Given the description of an element on the screen output the (x, y) to click on. 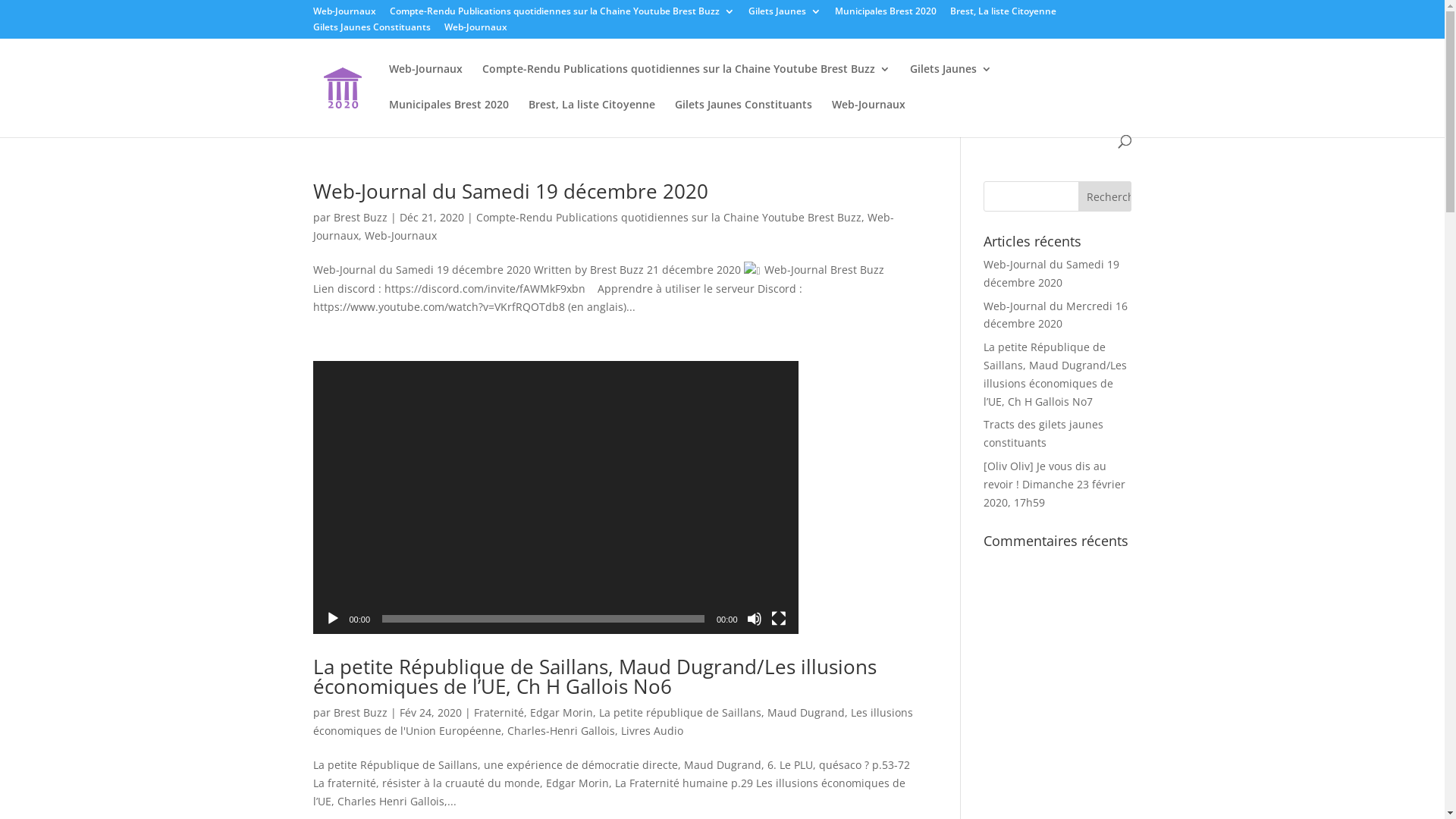
Rechercher Element type: text (1104, 196)
Municipales Brest 2020 Element type: text (448, 116)
Brest, La liste Citoyenne Element type: text (1002, 14)
Livres Audio Element type: text (651, 730)
Web-Journaux Element type: text (343, 14)
Tracts des gilets jaunes constituants Element type: text (1043, 433)
Web-Journaux Element type: text (602, 226)
Gilets Jaunes Constituants Element type: text (743, 116)
Web-Journaux Element type: text (867, 116)
Muet Element type: hover (753, 618)
Gilets Jaunes Element type: text (783, 14)
Brest Buzz Element type: text (360, 712)
Brest Buzz Element type: text (360, 217)
Web-Journaux Element type: text (424, 81)
Lecture Element type: hover (331, 618)
Web-Journaux Element type: text (400, 235)
Gilets Jaunes Element type: text (950, 81)
Municipales Brest 2020 Element type: text (884, 14)
Web-Journaux Element type: text (475, 30)
Brest, La liste Citoyenne Element type: text (590, 116)
Gilets Jaunes Constituants Element type: text (370, 30)
